Given the description of an element on the screen output the (x, y) to click on. 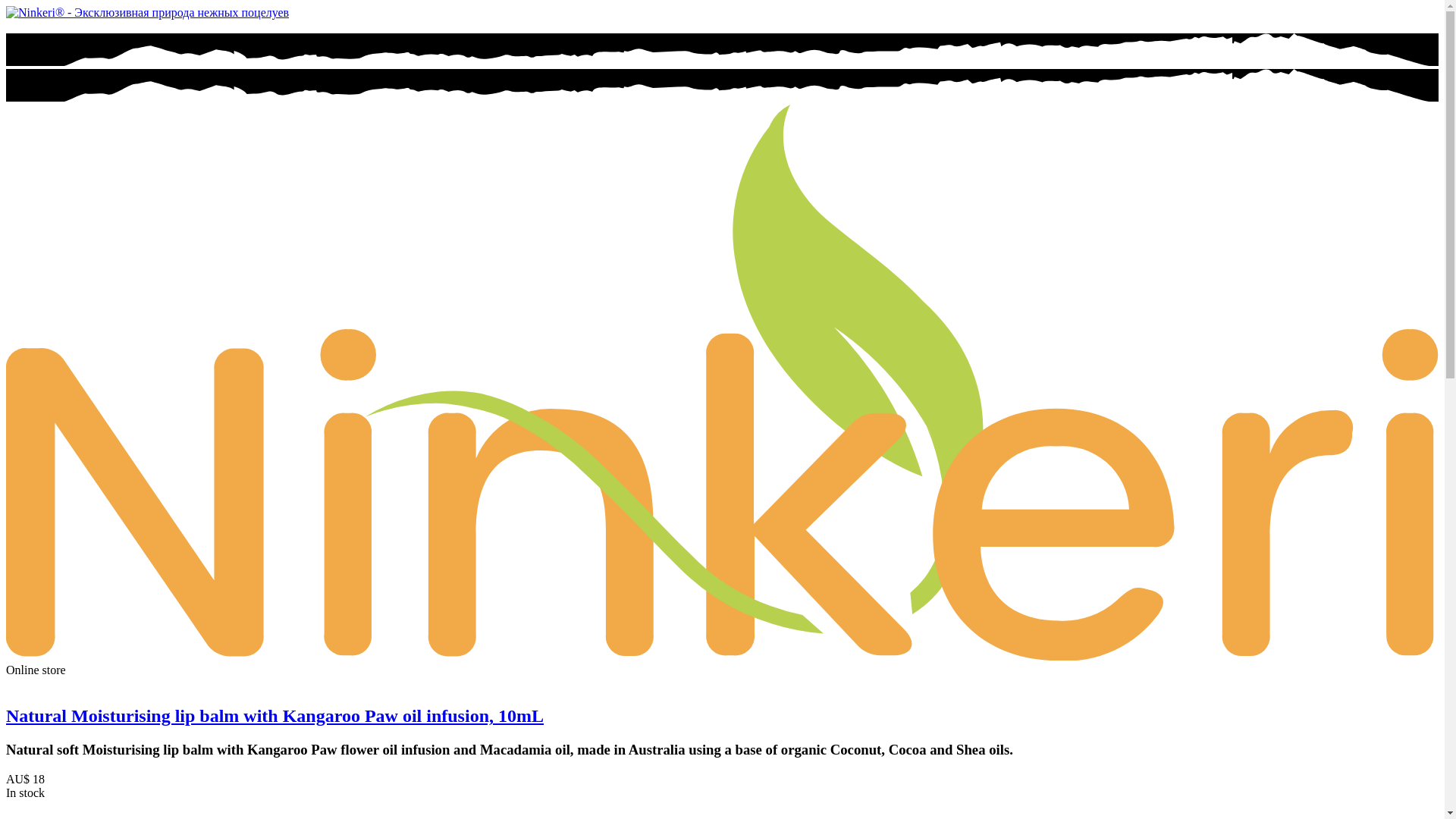
Australian natural cosmetics Element type: hover (722, 655)
